Given the description of an element on the screen output the (x, y) to click on. 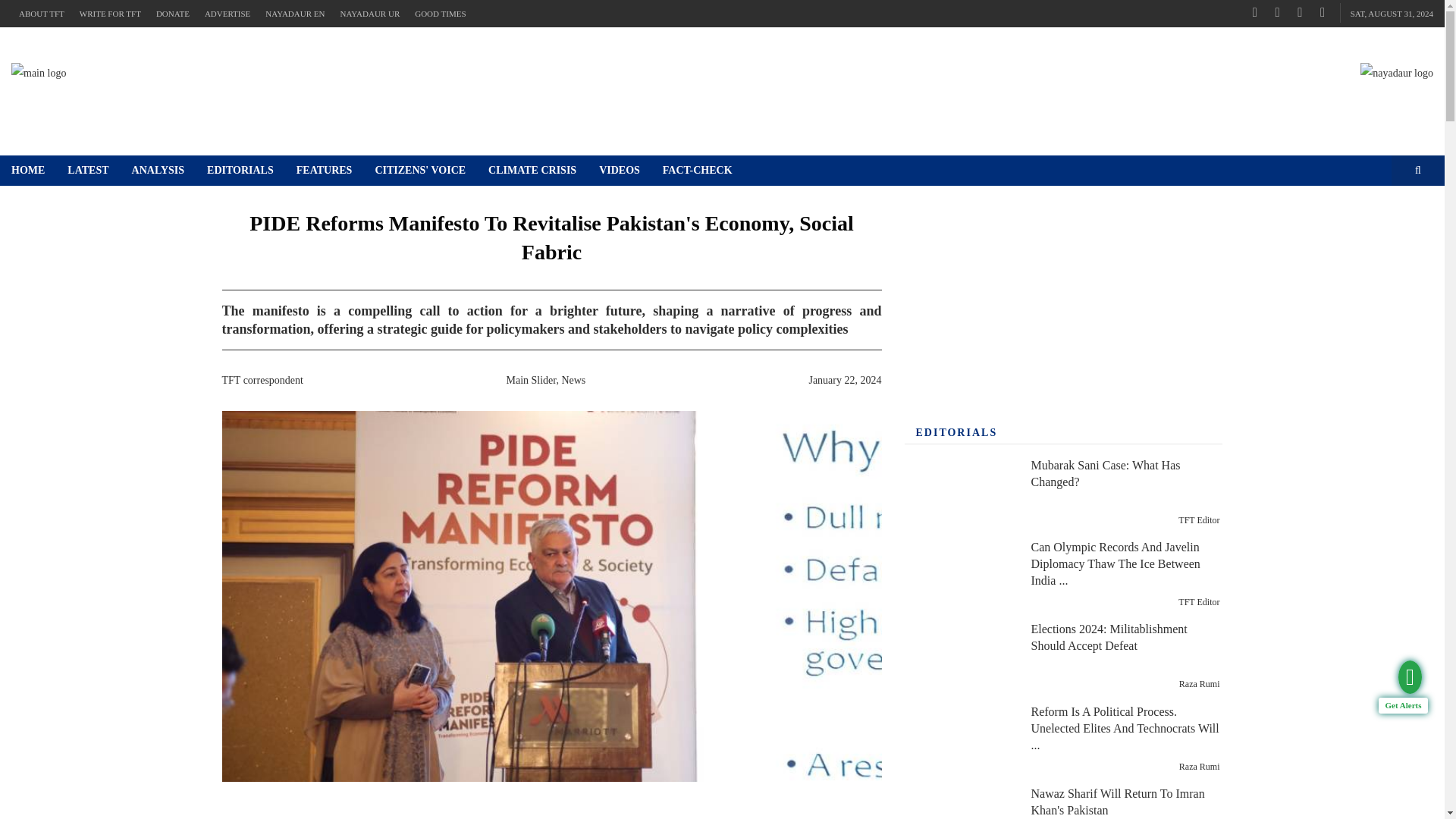
WRITE FOR TFT (109, 13)
FACT-CHECK (697, 170)
ABOUT TFT (41, 13)
DONATE (172, 13)
NAYADAUR EN (294, 13)
CITIZENS' VOICE (419, 170)
CLIMATE CRISIS (532, 170)
Nawaz Sharif Will Return To Imran Khan's Pakistan (959, 803)
